Given the description of an element on the screen output the (x, y) to click on. 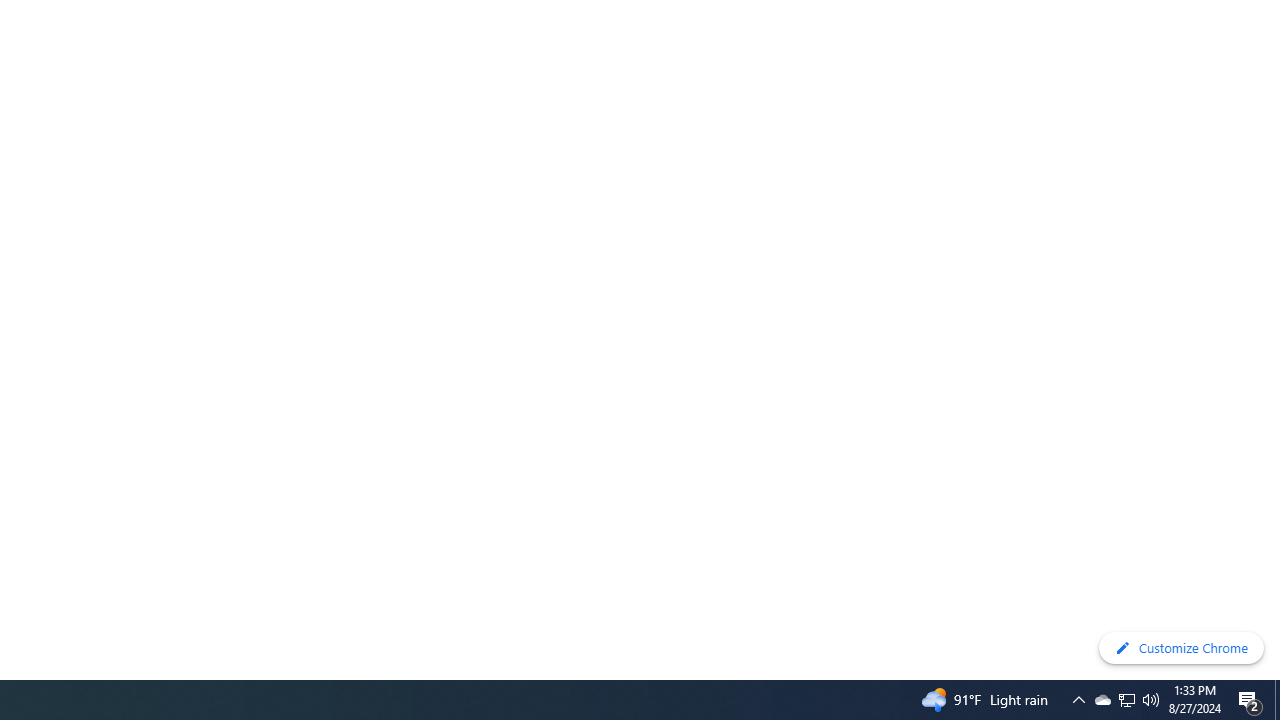
Customize Chrome (1181, 647)
